Given the description of an element on the screen output the (x, y) to click on. 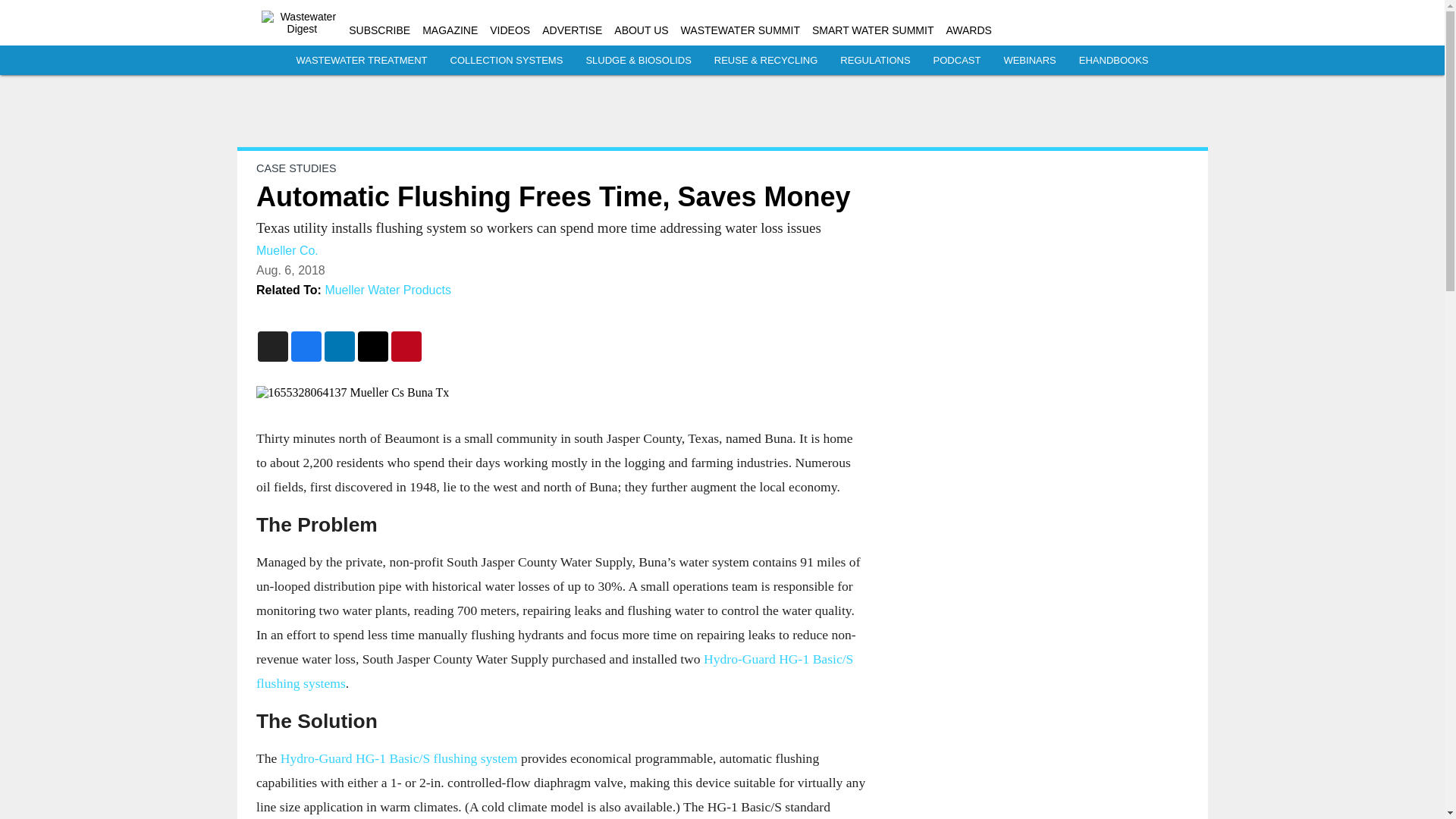
REGULATIONS (875, 60)
WEBINARS (1029, 60)
SUBSCRIBE (379, 30)
MAGAZINE (449, 30)
EHANDBOOKS (1113, 60)
ADVERTISE (571, 30)
ABOUT US (641, 30)
Mueller Water Products (387, 289)
CASE STUDIES (296, 168)
WASTEWATER SUMMIT (740, 30)
